Given the description of an element on the screen output the (x, y) to click on. 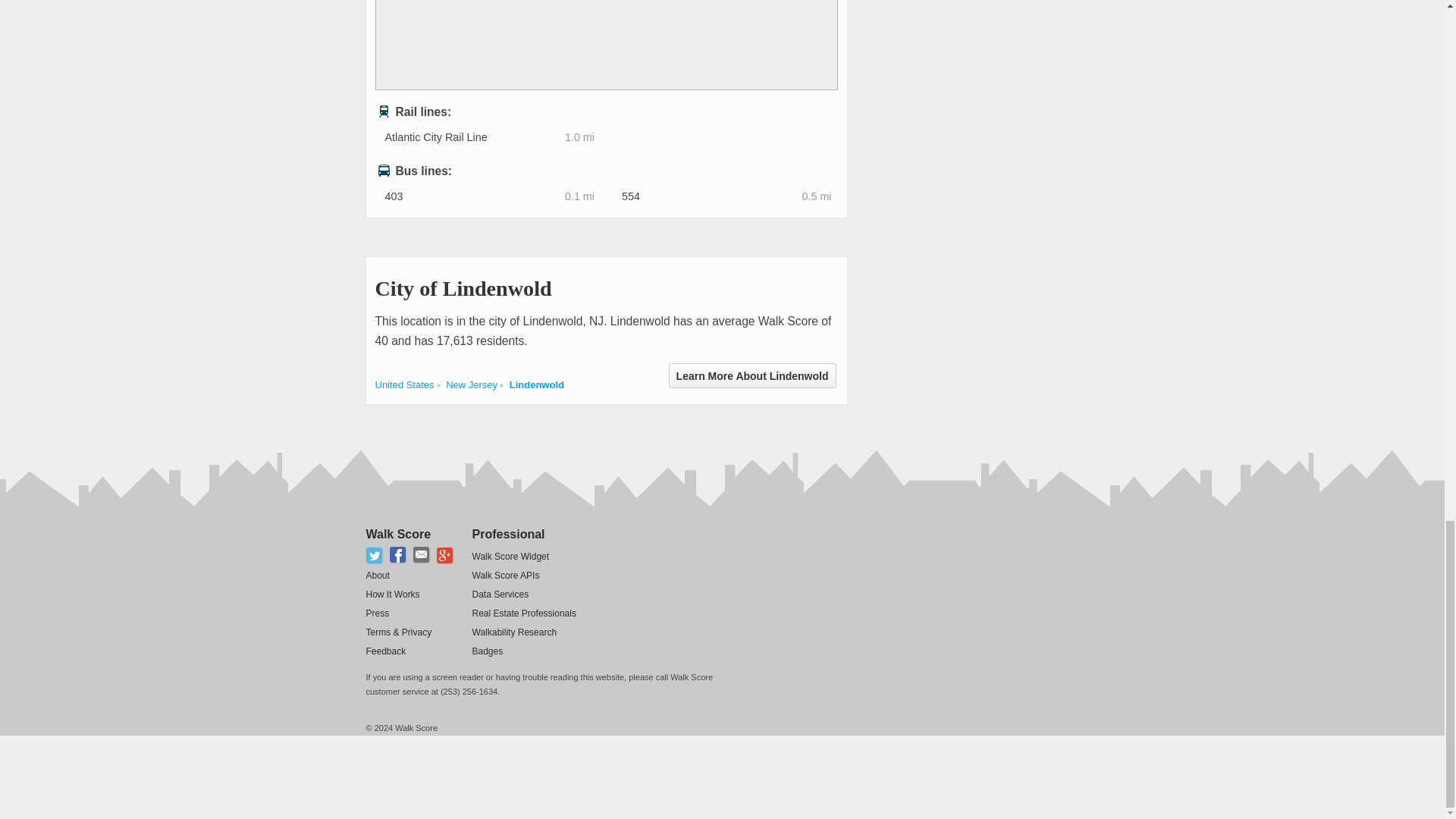
Learn More About Lindenwold (751, 375)
Cities in New Jersey state (471, 384)
United States Walkability Rankings (403, 384)
New Jersey (471, 384)
United States (403, 384)
